Given the description of an element on the screen output the (x, y) to click on. 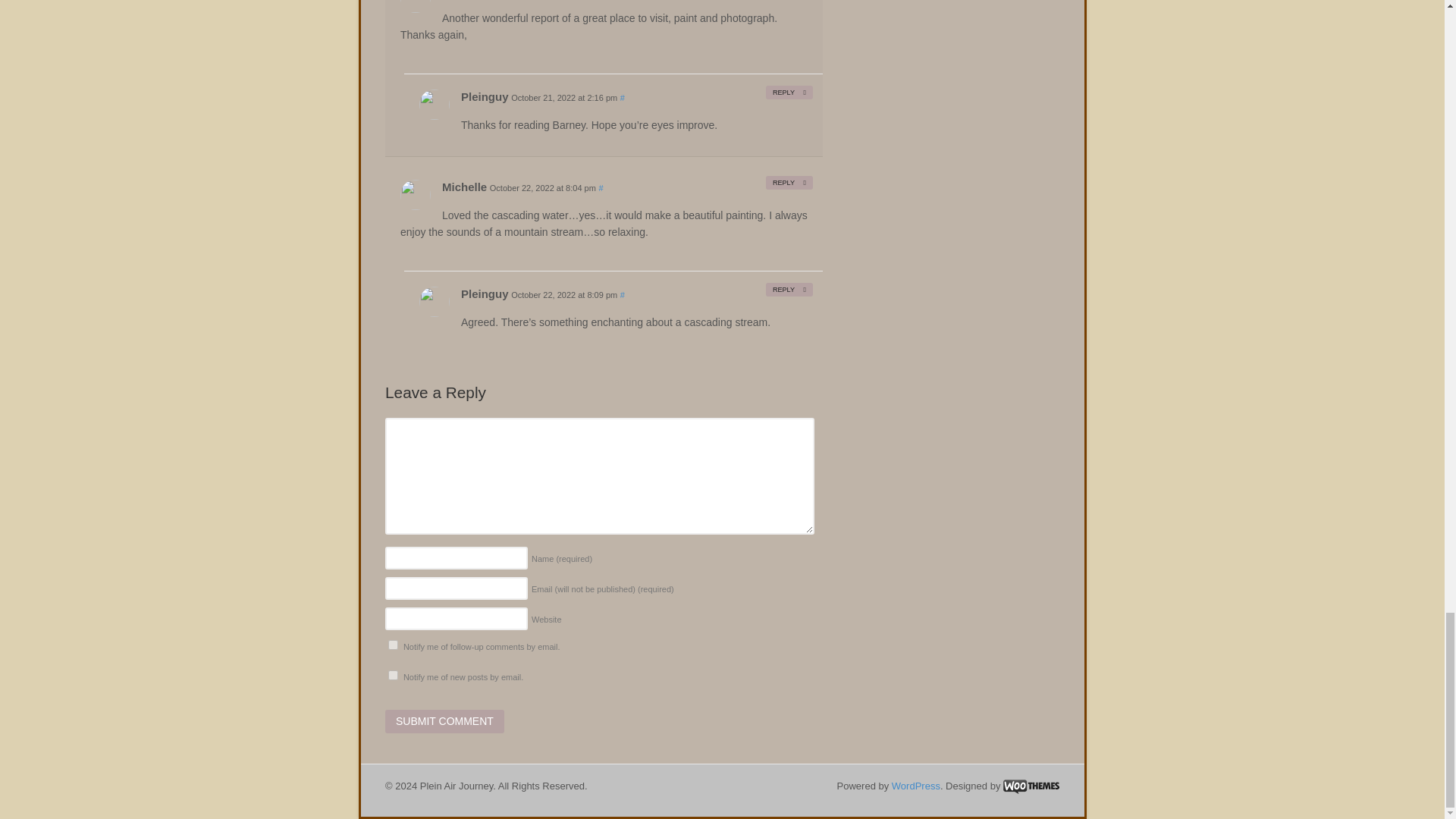
subscribe (392, 644)
Submit Comment (444, 721)
subscribe (392, 675)
